Given the description of an element on the screen output the (x, y) to click on. 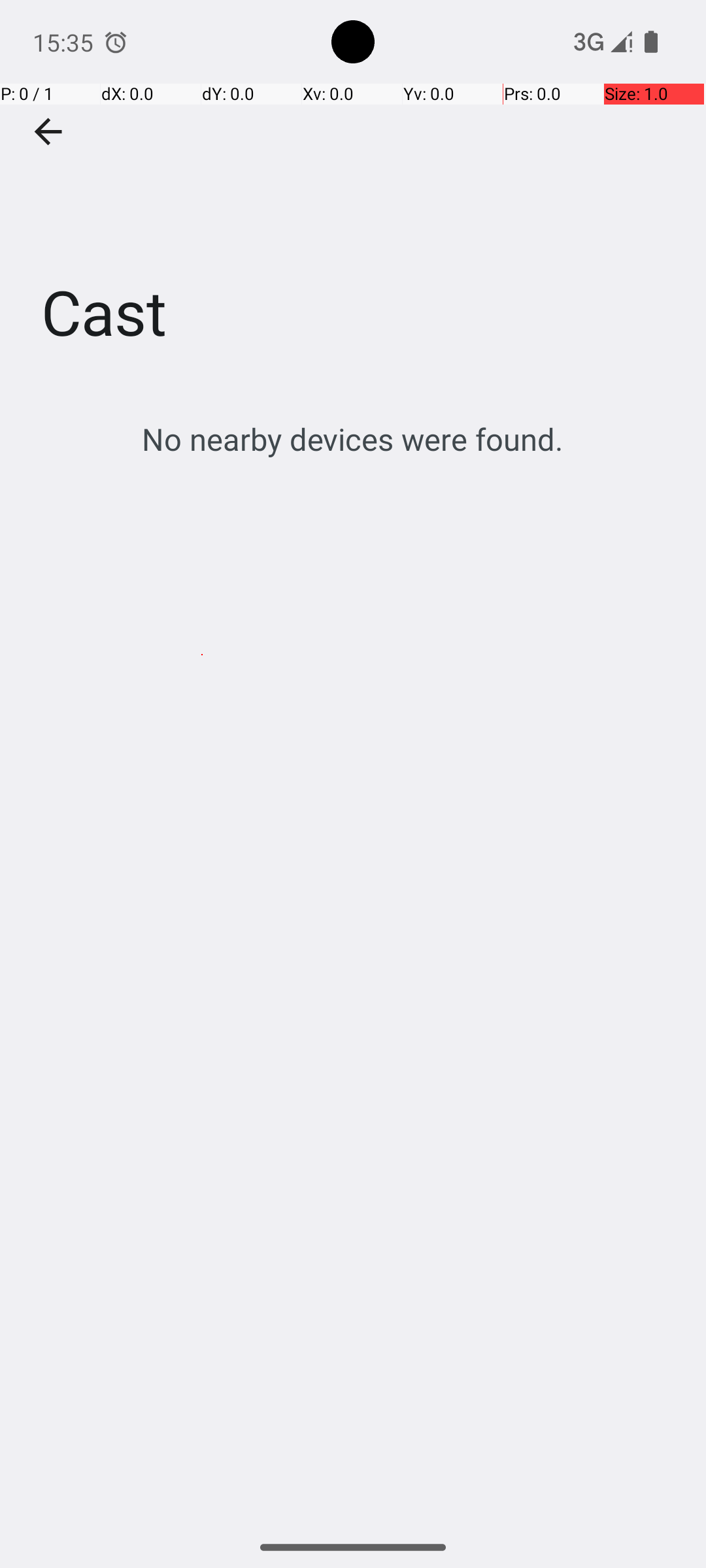
Cast Element type: android.widget.FrameLayout (353, 195)
No nearby devices were found. Element type: android.widget.TextView (352, 438)
